Given the description of an element on the screen output the (x, y) to click on. 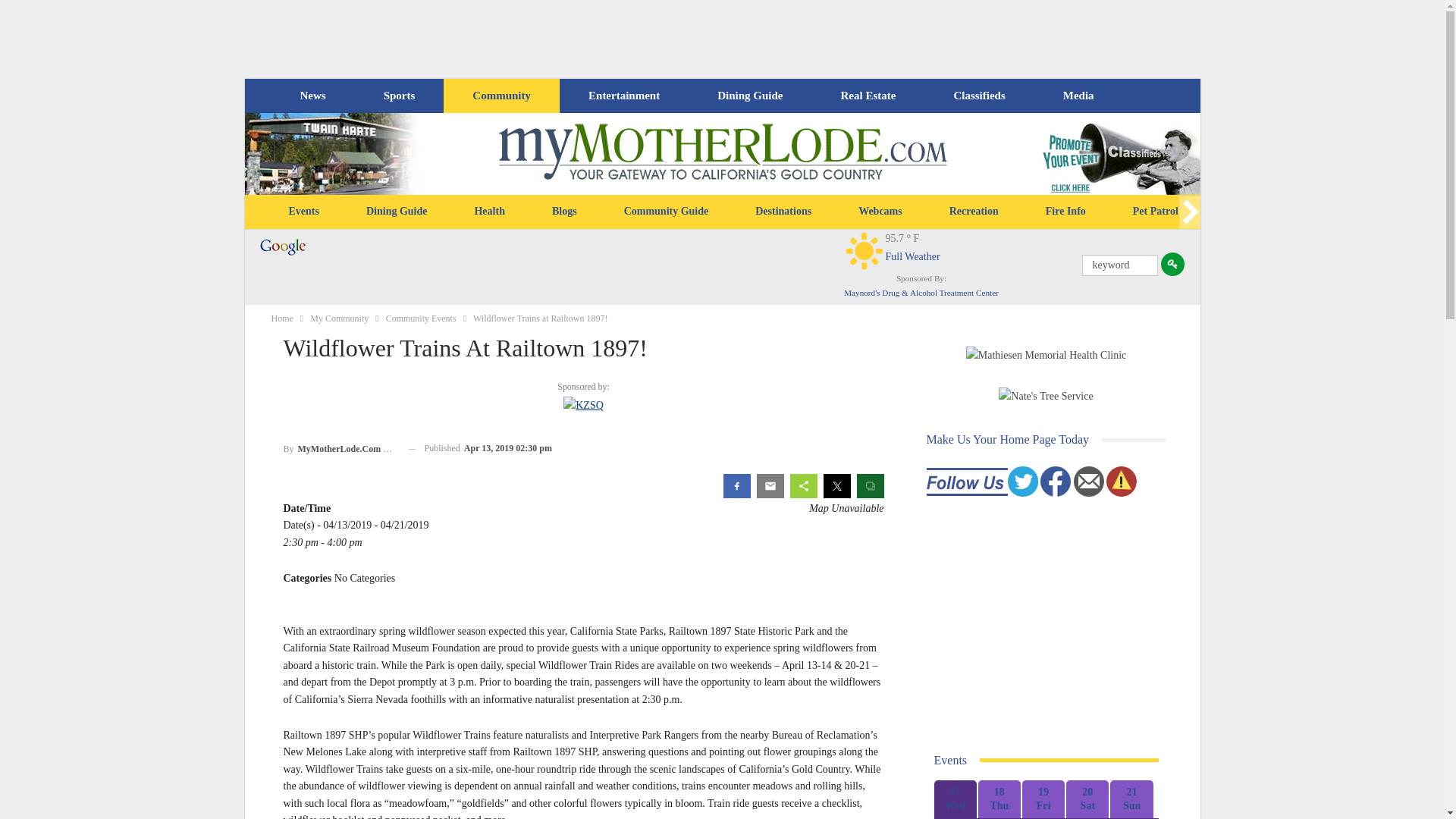
Sports (399, 95)
Mathiesen Memorial Health Clinic (1046, 355)
Real Estate (868, 95)
Submit (1172, 264)
Blogs (563, 211)
Entertainment (624, 95)
KZSQ (583, 404)
Dining Guide (749, 95)
By MyMotherLode.Com Events (340, 448)
Make Us Your Home Page Today (1007, 439)
Health (488, 211)
Full Weather (912, 256)
My Community (339, 318)
